Given the description of an element on the screen output the (x, y) to click on. 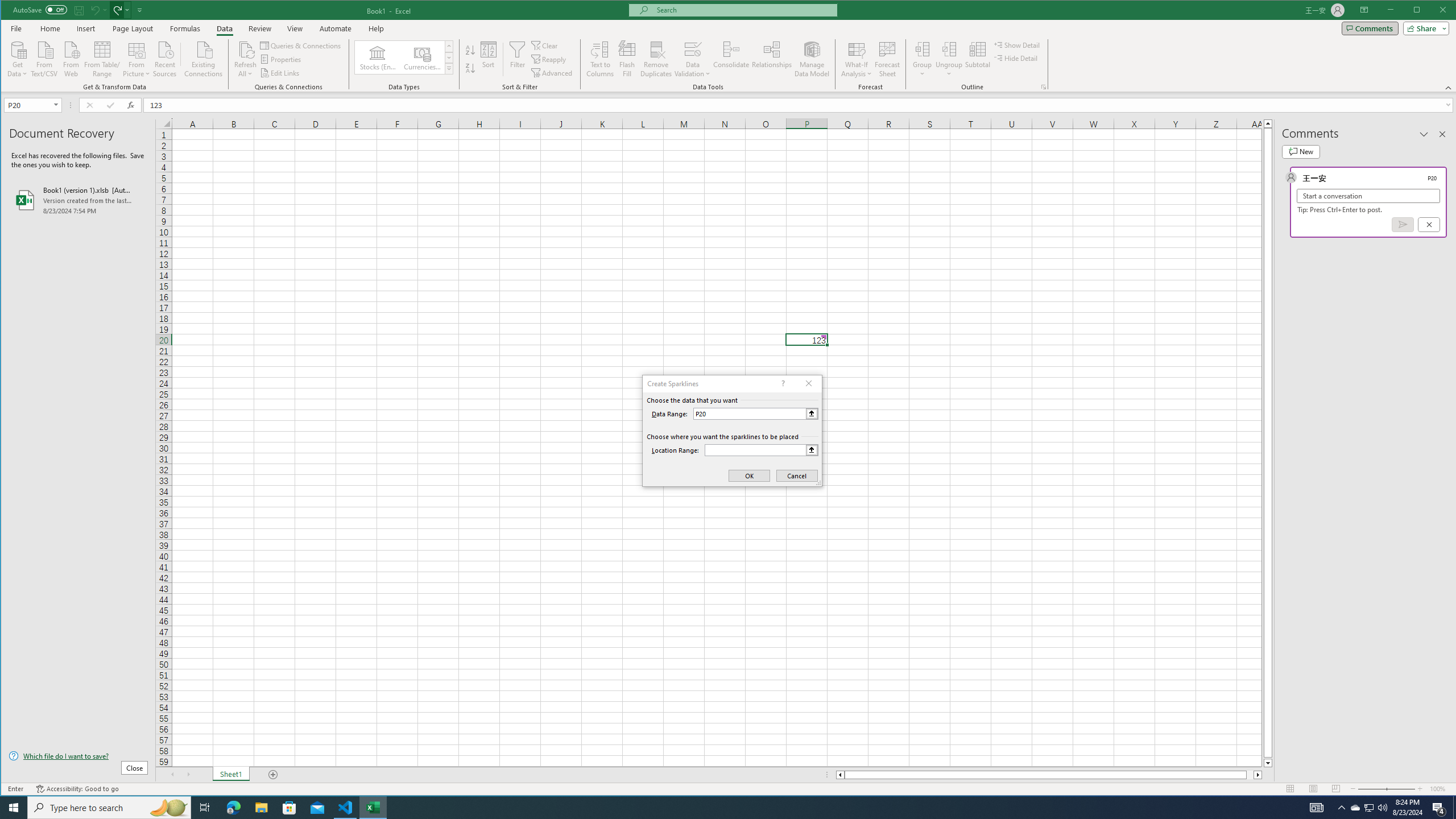
Flash Fill (627, 59)
Task Pane Options (1423, 133)
Data Validation... (691, 48)
Existing Connections (203, 57)
Close pane (1441, 133)
